Given the description of an element on the screen output the (x, y) to click on. 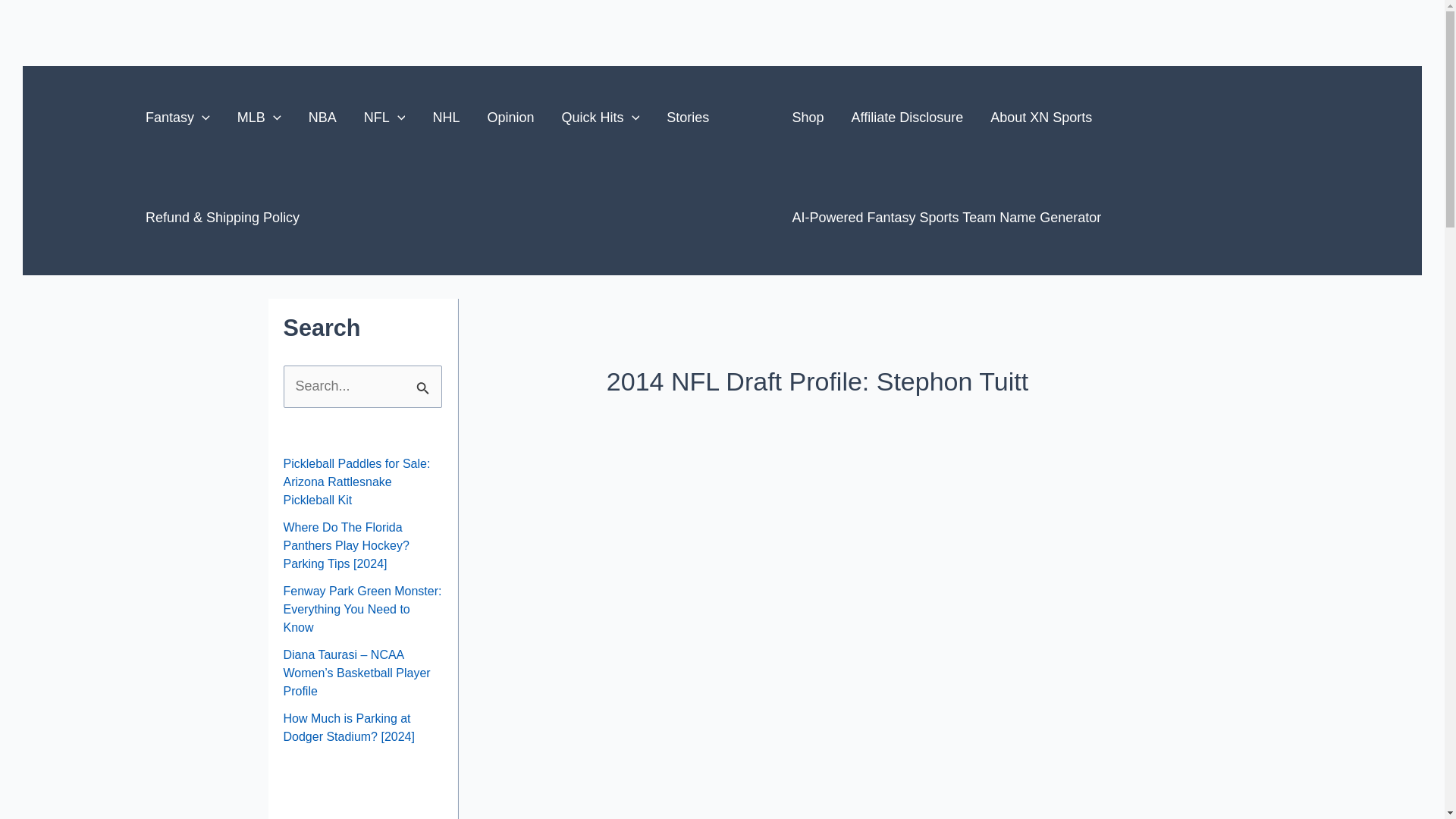
Quick Hits (600, 117)
Affiliate Disclosure (906, 117)
Search (424, 381)
AI-Powered Fantasy Sports Team Name Generator (946, 217)
About XN Sports (1040, 117)
Search (424, 381)
Fantasy (178, 117)
